Given the description of an element on the screen output the (x, y) to click on. 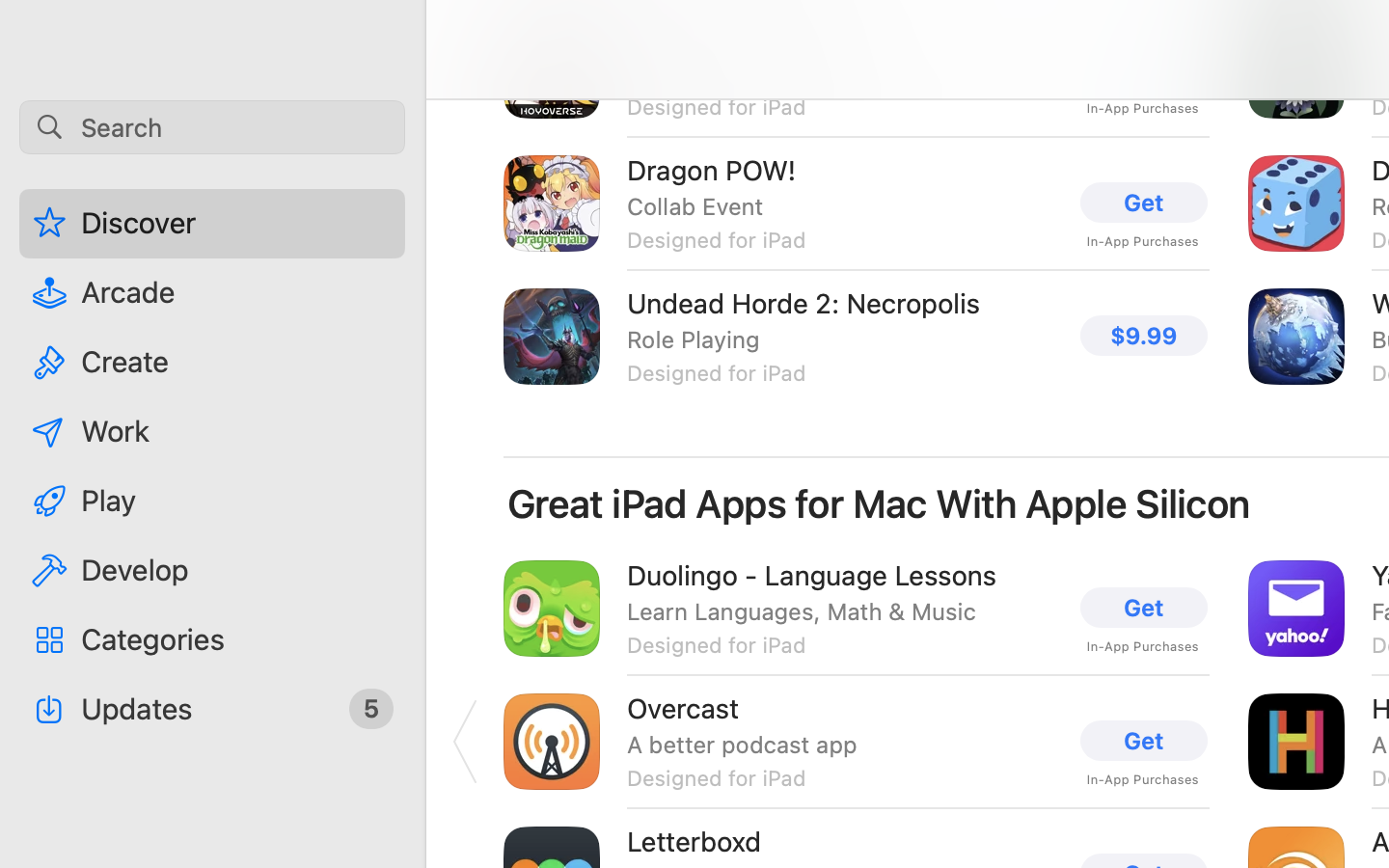
Great iPad Apps for Mac With Apple Silicon Element type: AXStaticText (879, 503)
